Given the description of an element on the screen output the (x, y) to click on. 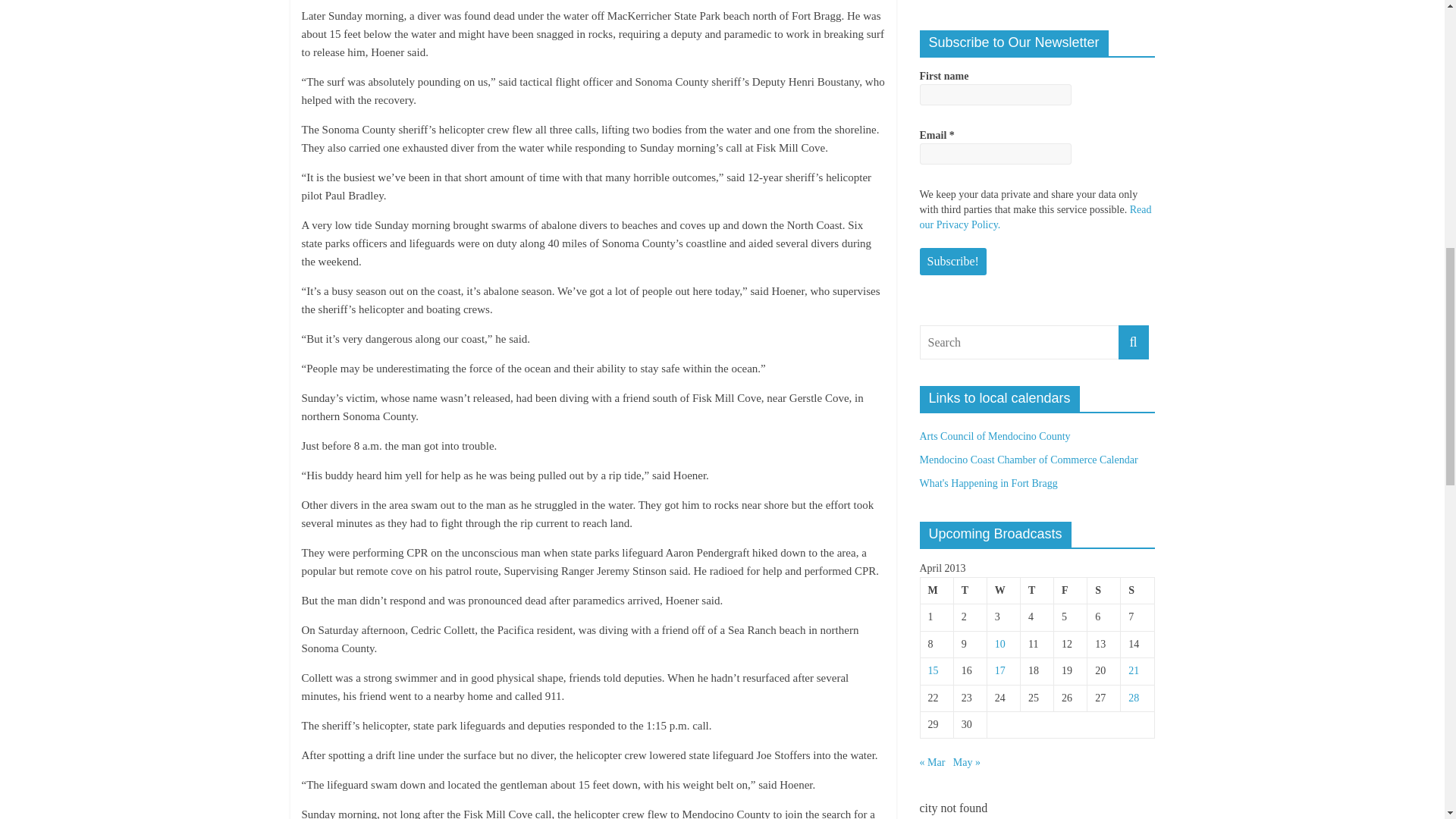
Subscribe! (951, 261)
